Given the description of an element on the screen output the (x, y) to click on. 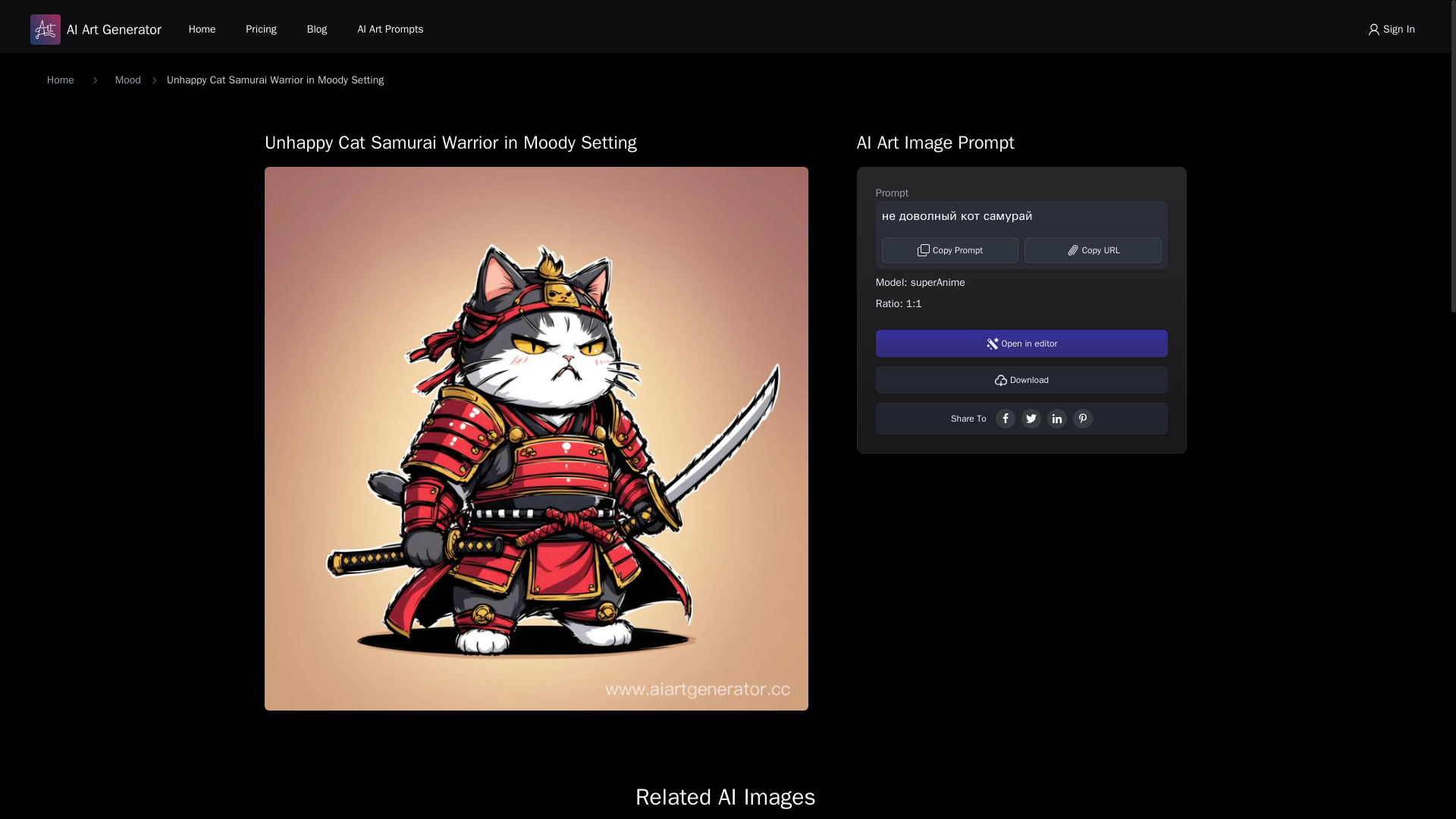
Mood (128, 79)
Home (60, 79)
AI Art Prompts (389, 29)
Copy Prompt (950, 249)
Pricing (261, 29)
Copy URL (1093, 249)
Sign In (1391, 29)
Home (202, 29)
AI Art Generator (95, 29)
Blog (317, 29)
